Given the description of an element on the screen output the (x, y) to click on. 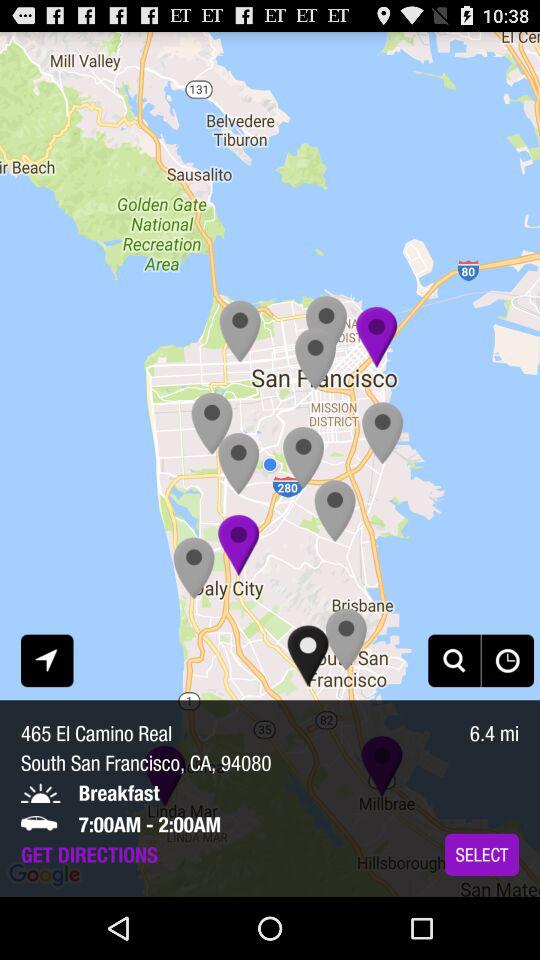
open icon above the 6.4 mi icon (507, 660)
